Given the description of an element on the screen output the (x, y) to click on. 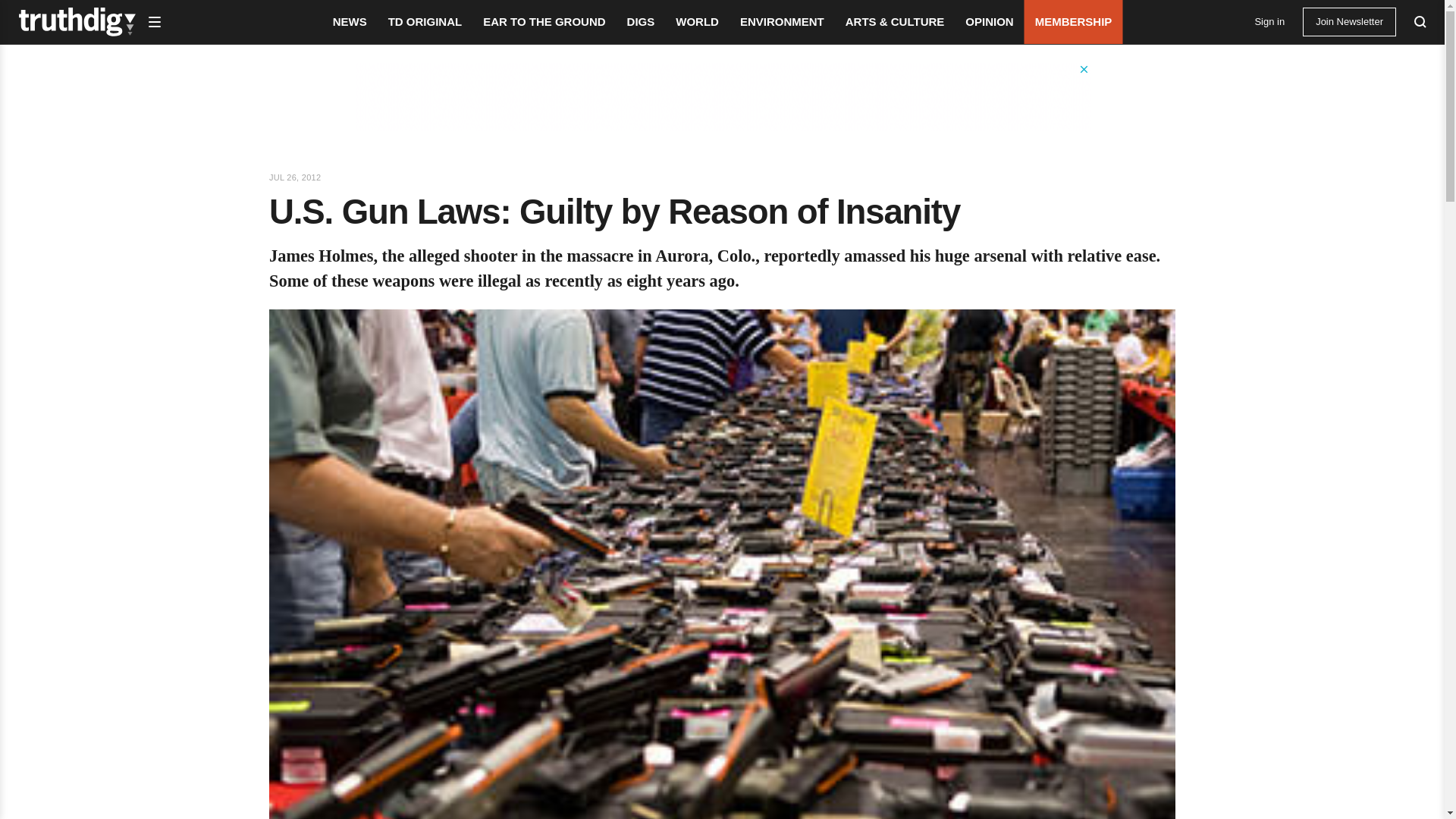
3rd party ad content (722, 97)
